Given the description of an element on the screen output the (x, y) to click on. 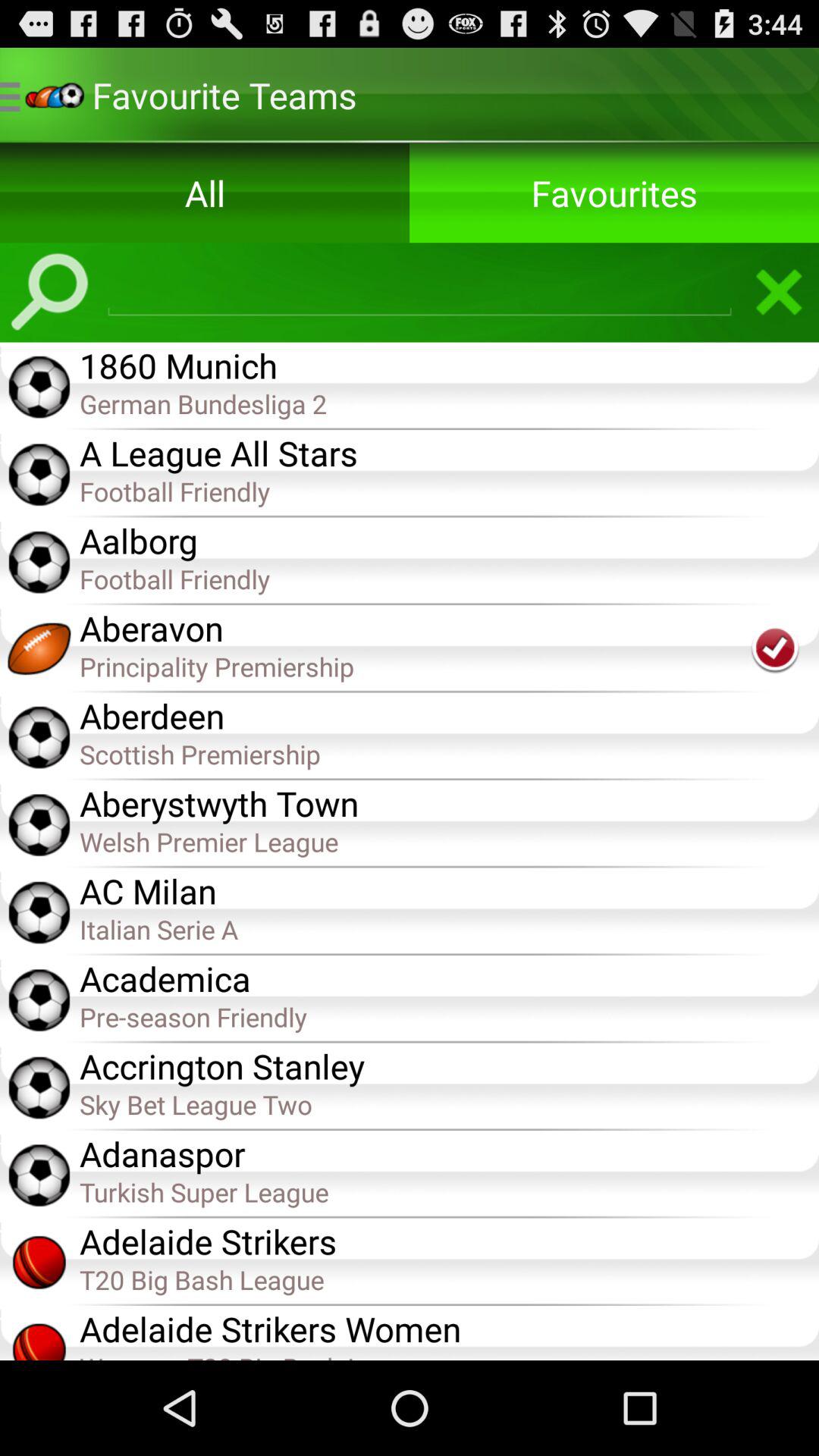
turn on app above the welsh premier league app (449, 802)
